Given the description of an element on the screen output the (x, y) to click on. 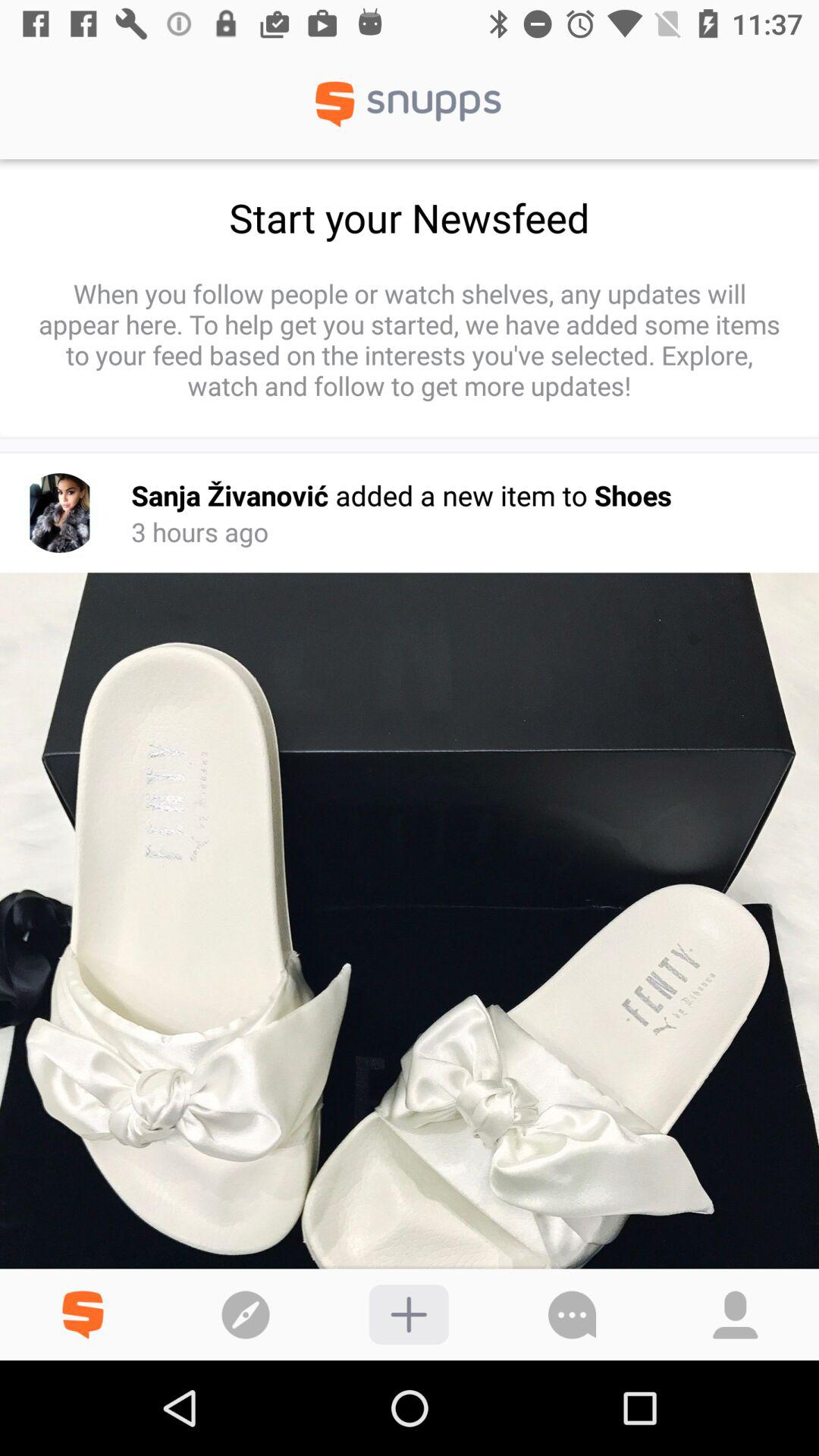
add to your collection (408, 1314)
